Given the description of an element on the screen output the (x, y) to click on. 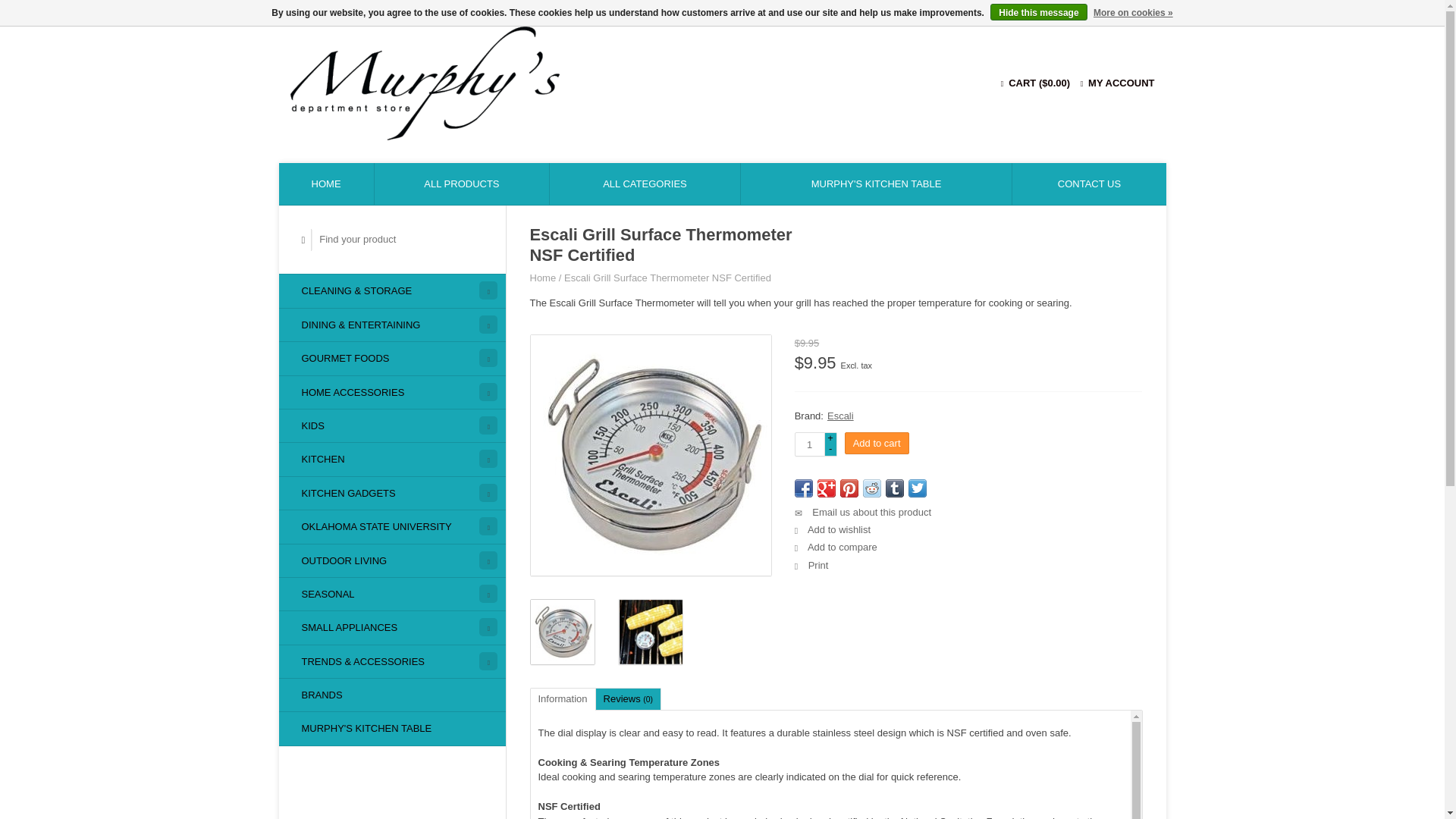
Murphy's Department Store (564, 83)
ALL PRODUCTS (462, 183)
MY ACCOUNT (1117, 82)
MURPHY'S KITCHEN TABLE (876, 183)
Gourmet Foods (392, 358)
HOME ACCESSORIES (392, 392)
CONTACT US (1088, 183)
Search (304, 239)
KIDS (392, 425)
GOURMET FOODS (392, 358)
HOME (326, 183)
Murphy's Kitchen Table (876, 183)
ALL CATEGORIES (644, 183)
Contact Us (1088, 183)
1 (809, 444)
